Given the description of an element on the screen output the (x, y) to click on. 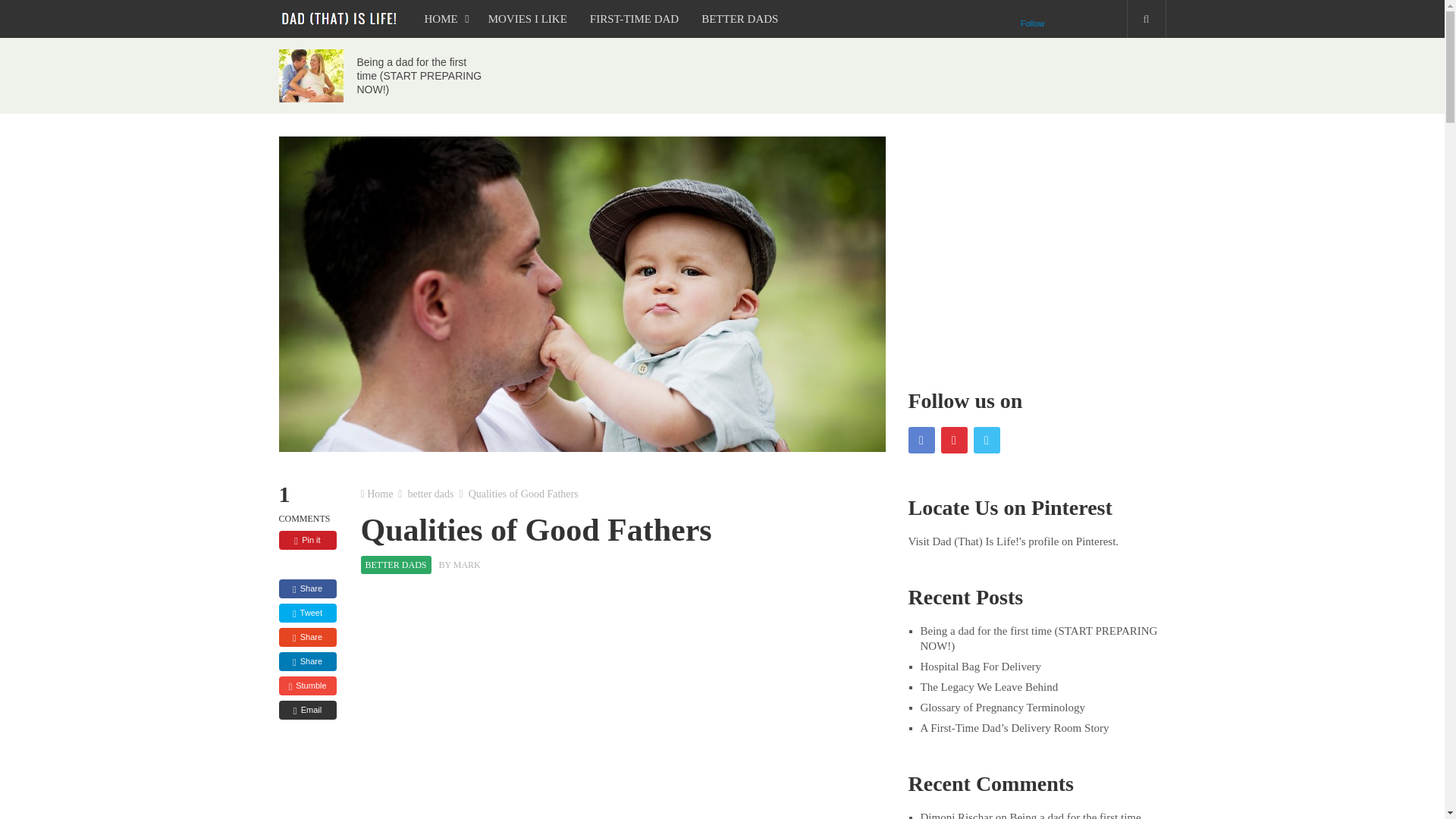
Advertisement (623, 705)
MARK (466, 564)
BETTER DADS (739, 18)
Share (307, 588)
Stumble (307, 685)
Home (379, 493)
Pin it (307, 539)
Email (307, 710)
Share (307, 637)
better dads (429, 493)
BETTER DADS (395, 565)
View all posts in better dads (395, 565)
Share (307, 660)
Tweet (307, 612)
FIRST-TIME DAD (634, 18)
